Given the description of an element on the screen output the (x, y) to click on. 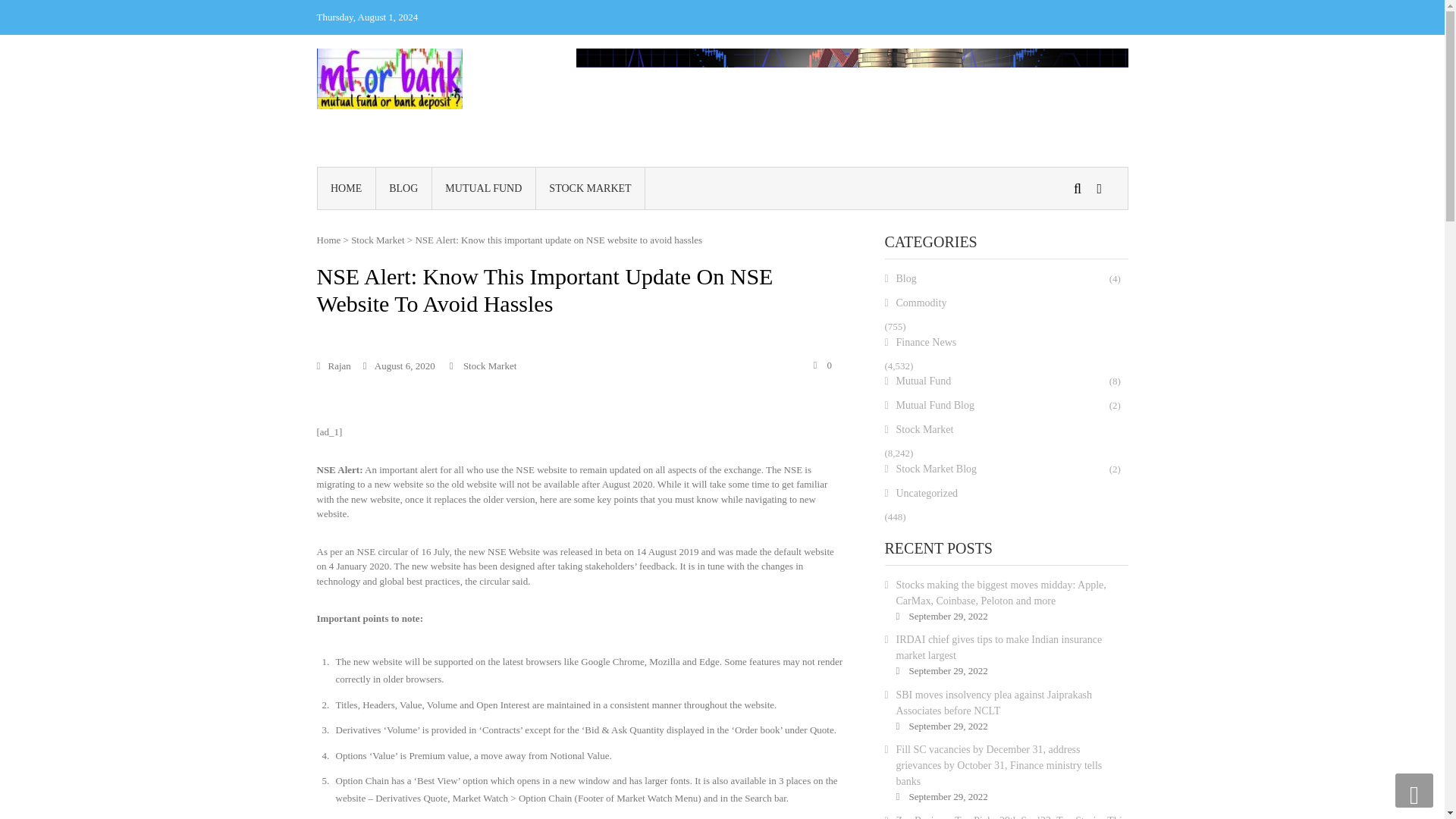
Search (936, 295)
Rajan (333, 365)
MF OR BANK (494, 85)
Home (328, 239)
0 (821, 365)
August 6, 2020 (398, 365)
BLOG (403, 188)
MUTUAL FUND (483, 188)
Stock Market (377, 239)
HOME (346, 188)
Stock Market (489, 365)
STOCK MARKET (590, 188)
